Given the description of an element on the screen output the (x, y) to click on. 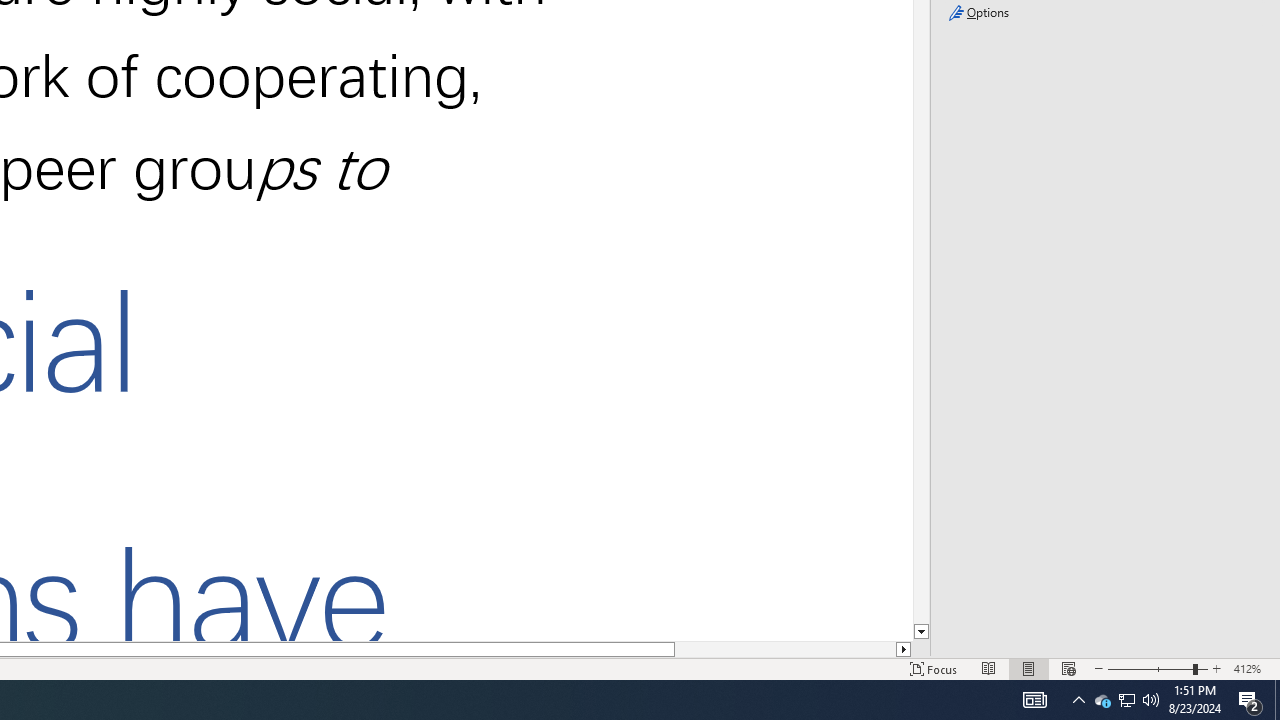
Print Layout (1028, 668)
Focus  (934, 668)
Zoom (1158, 668)
Column right (904, 649)
Web Layout (1069, 668)
Page right (785, 649)
Options (1104, 12)
Zoom Out (1150, 668)
Read Mode (988, 668)
Zoom In (1217, 668)
